Given the description of an element on the screen output the (x, y) to click on. 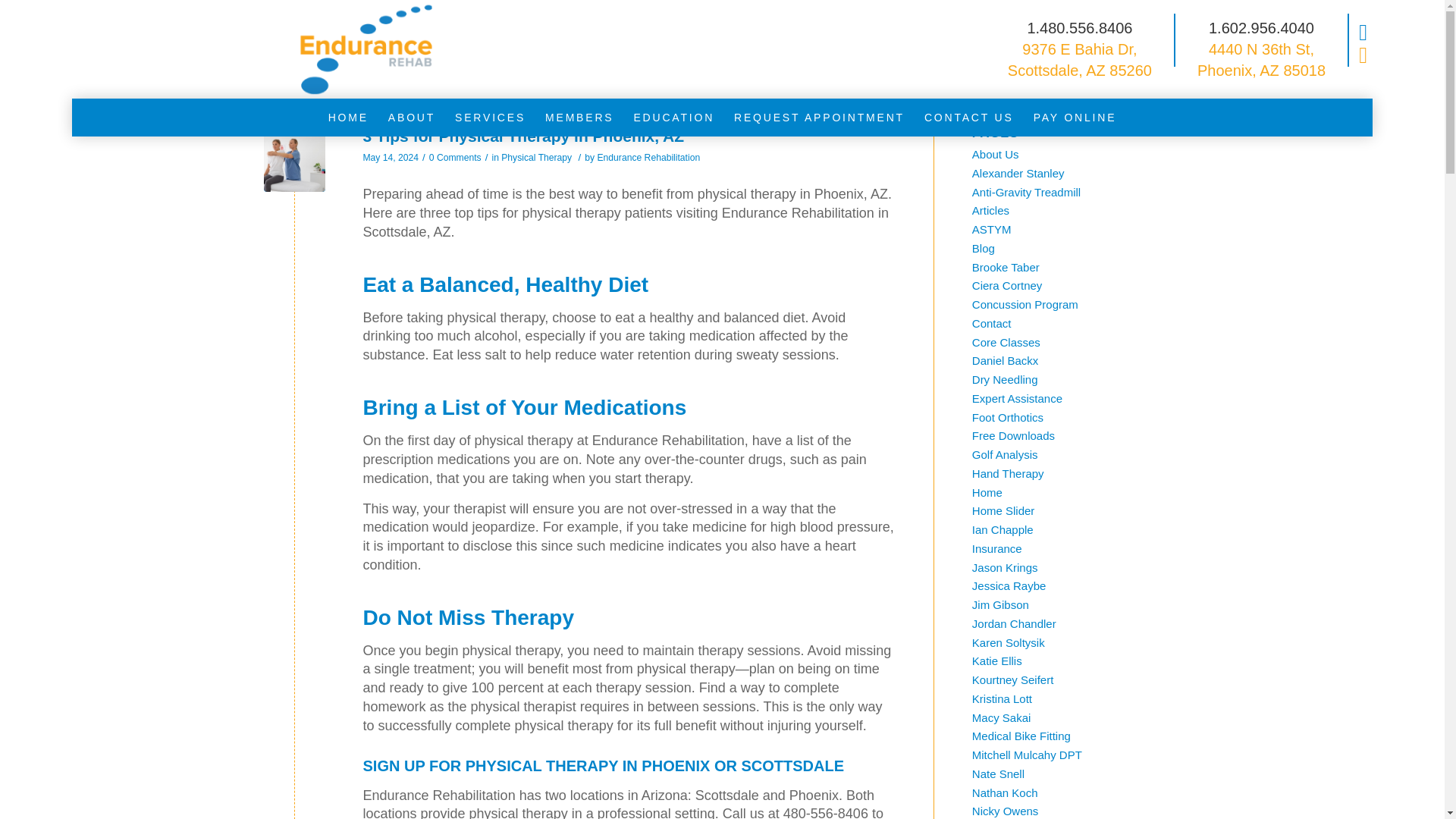
ABOUT (411, 117)
SERVICES (490, 117)
MEMBERS (579, 117)
Posts by Endurance Rehabilitation (648, 157)
9376 E Bahia Dr, Scottsdale, AZ 85260 (1079, 59)
Permanent Link: 3 Tips for Physical Therapy in Phoenix, AZ (523, 135)
EDUCATION (673, 117)
HOME (348, 117)
3 Tips for Physical Therapy in Phoenix, AZ (293, 160)
4440 N 36th St, Phoenix, AZ 85018 (1260, 59)
